Given the description of an element on the screen output the (x, y) to click on. 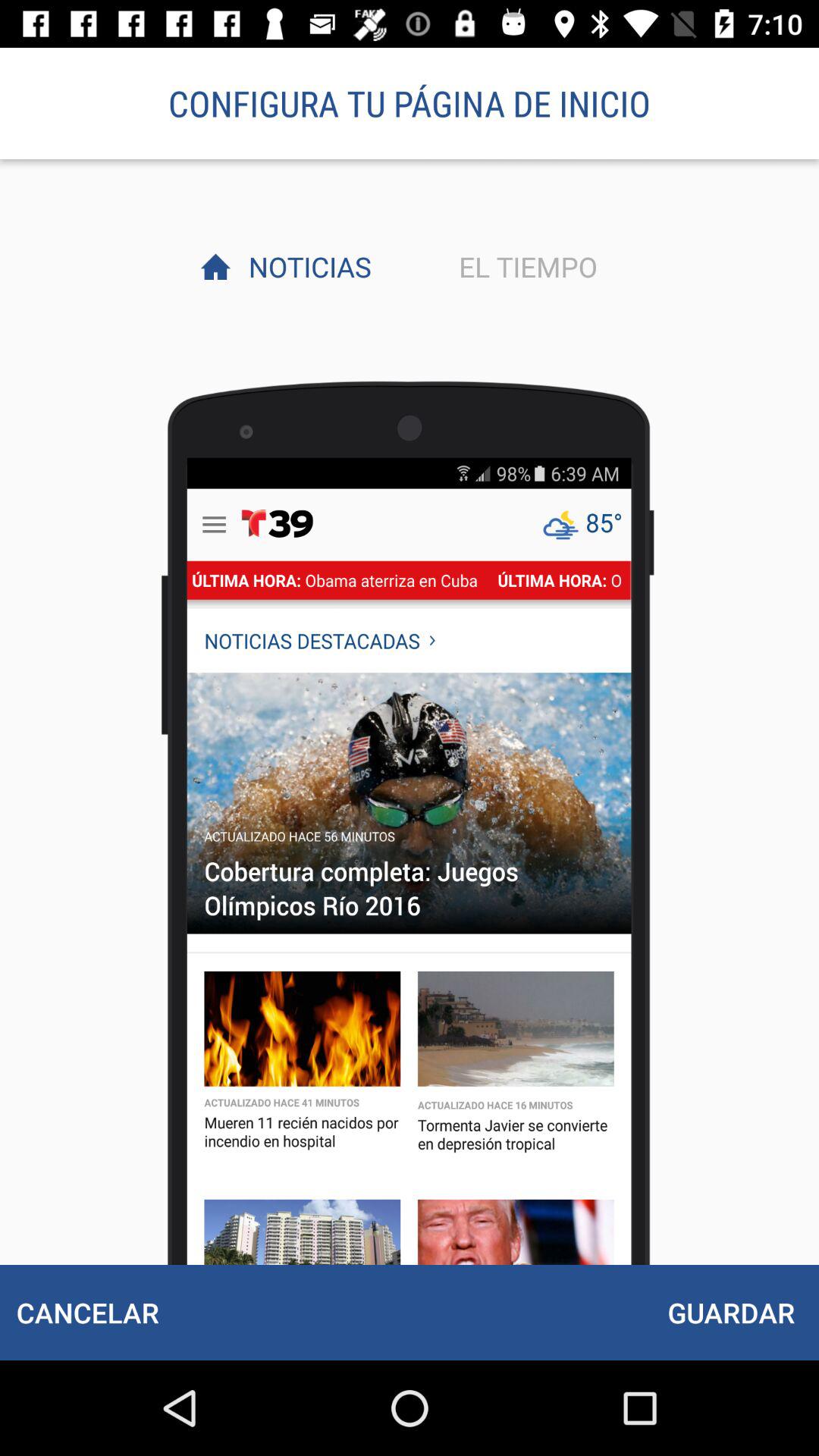
choose icon to the right of the cancelar icon (731, 1312)
